Given the description of an element on the screen output the (x, y) to click on. 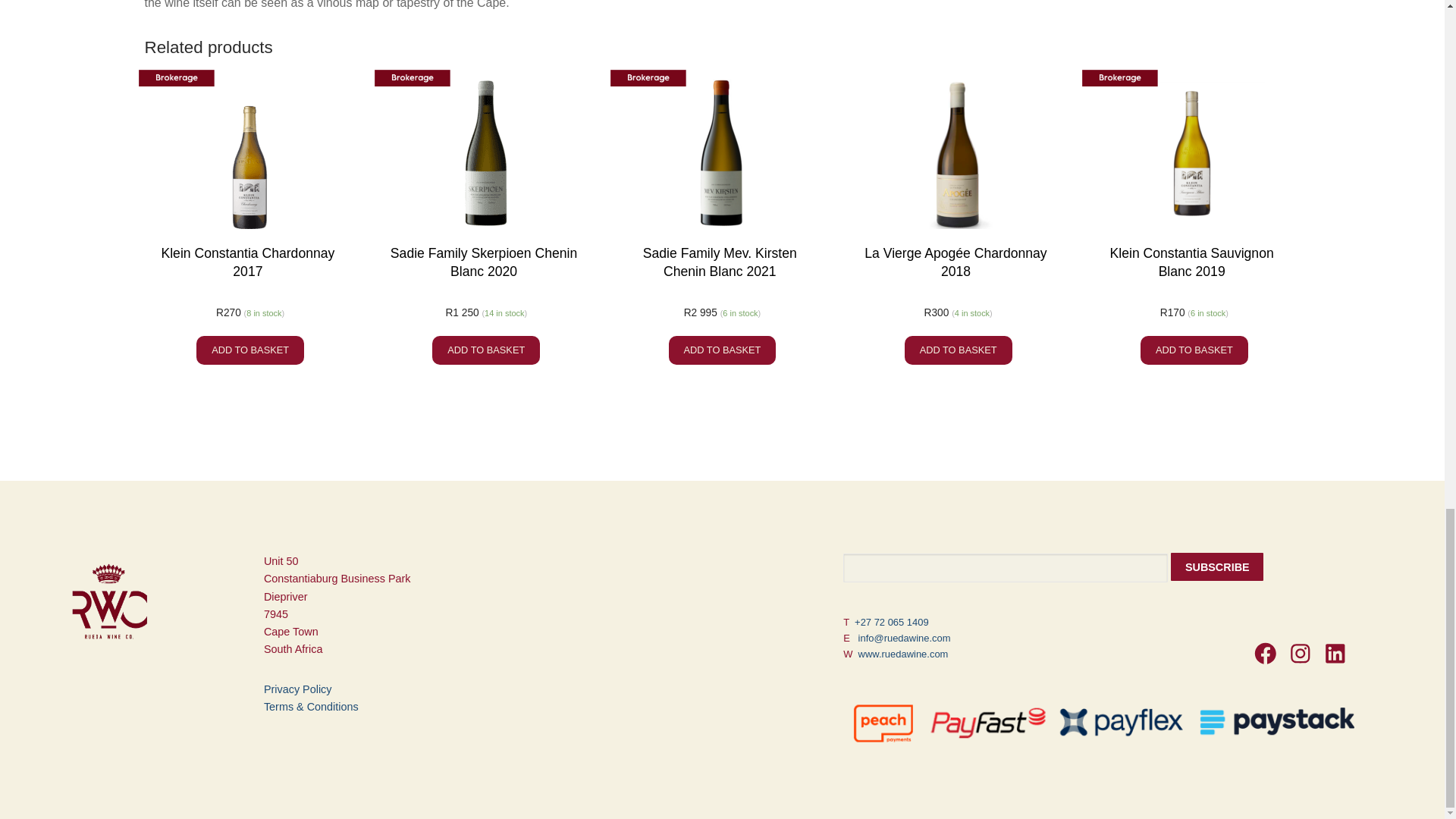
Subscribe (1216, 566)
